Given the description of an element on the screen output the (x, y) to click on. 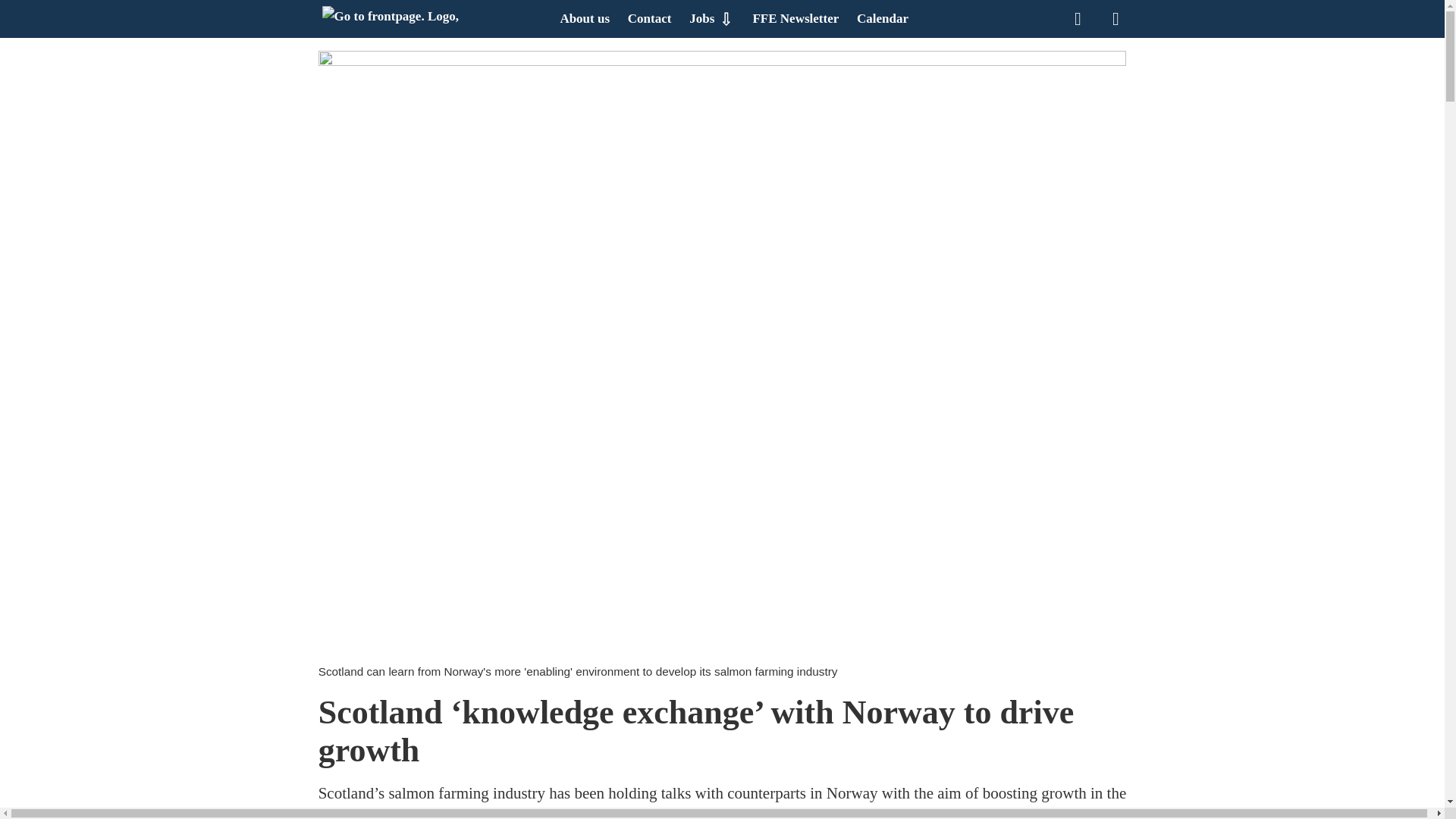
Calendar (882, 18)
Contact (649, 18)
FFE Newsletter (795, 18)
About us (584, 18)
